Given the description of an element on the screen output the (x, y) to click on. 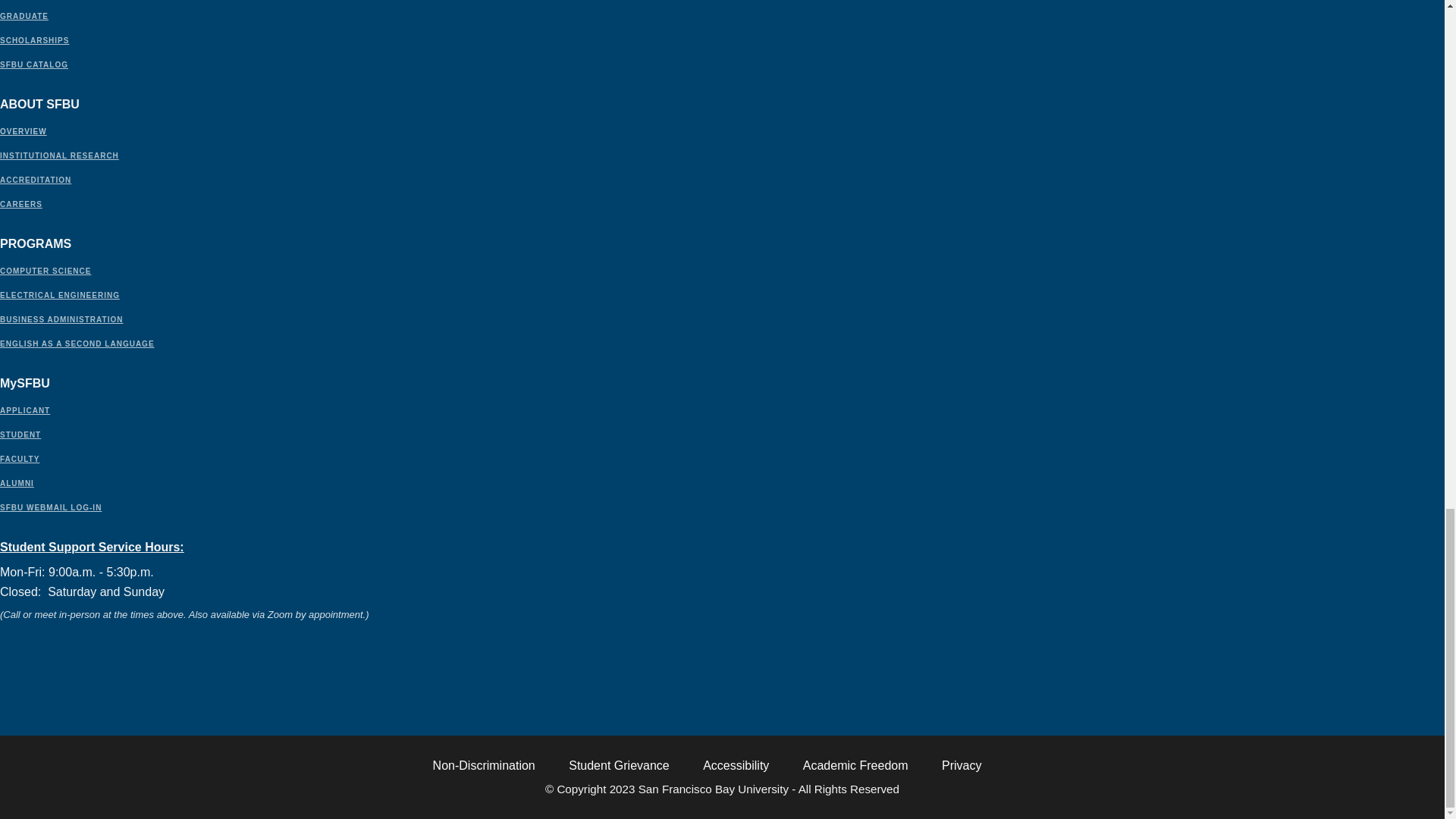
Academic Freedom Policy (855, 765)
Non-Discrimination Policy (483, 765)
Privacy Policy (961, 765)
Student Grievance Policy (619, 765)
Accommodation for Students With Disabilities (735, 765)
